Given the description of an element on the screen output the (x, y) to click on. 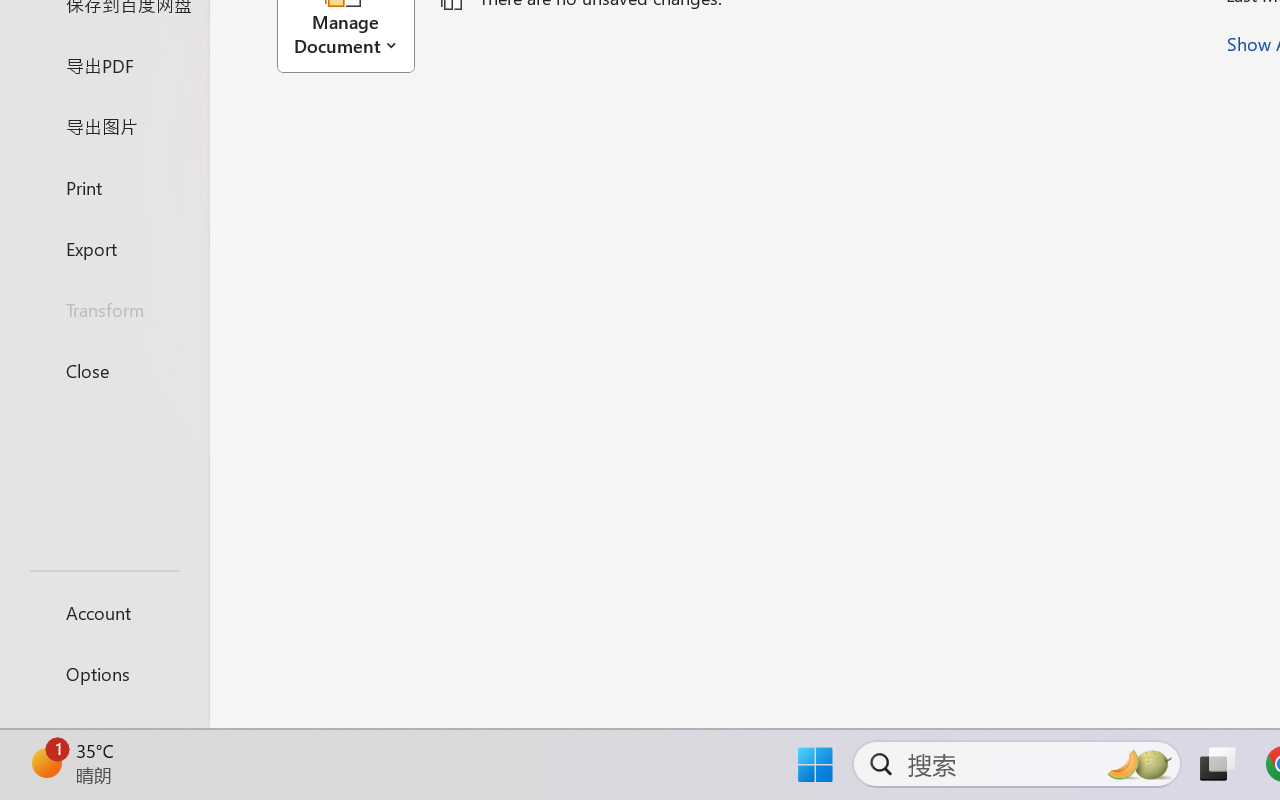
Transform (104, 309)
Options (104, 673)
Account (104, 612)
Print (104, 186)
Export (104, 248)
